Given the description of an element on the screen output the (x, y) to click on. 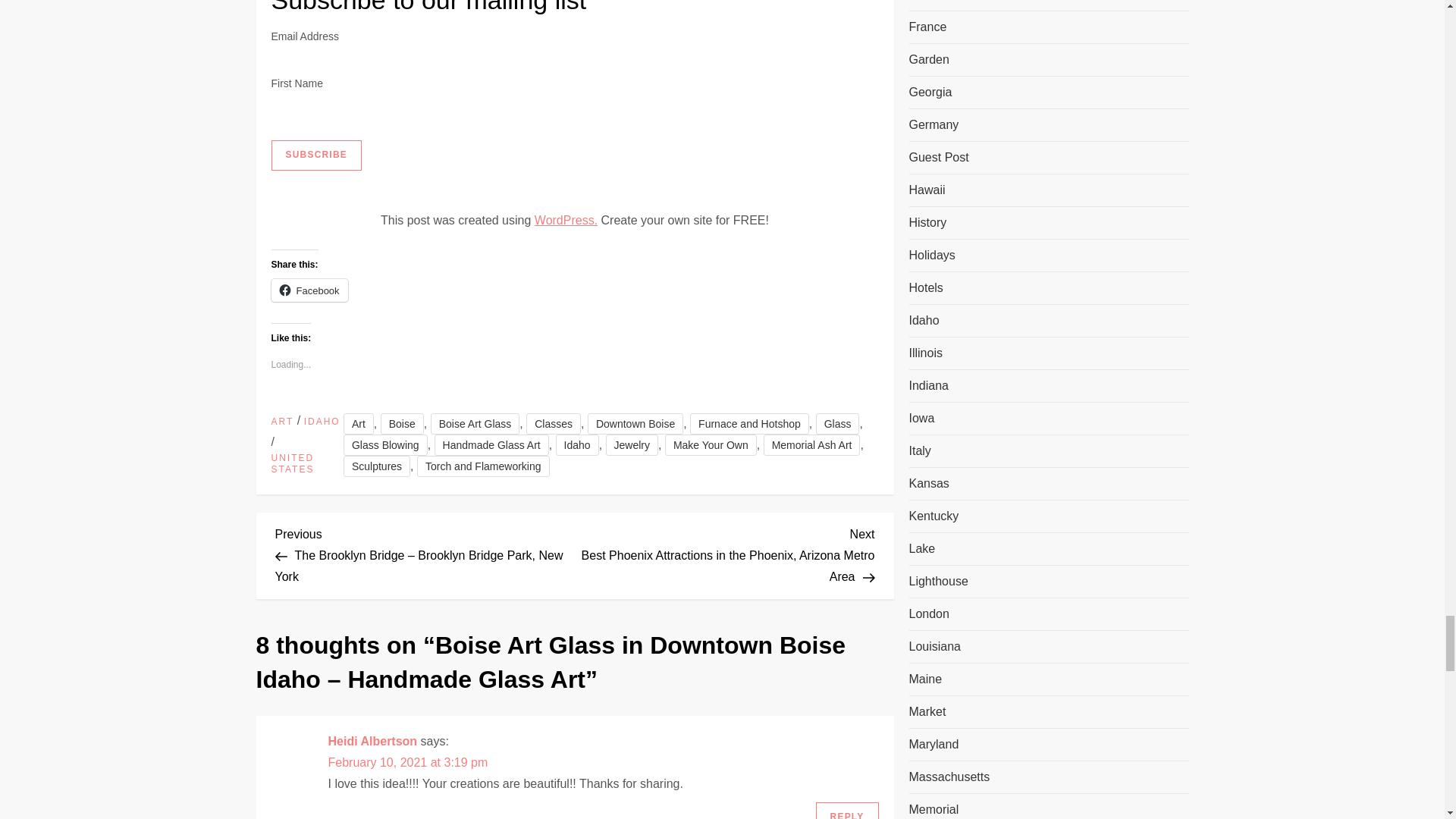
Classes (552, 423)
UNITED STATES (306, 463)
Facebook (308, 290)
Heidi Albertson (371, 740)
Sculptures (376, 465)
Art (358, 423)
WordPress. (565, 219)
Glass Blowing (385, 444)
Furnace and Hotshop (749, 423)
Handmade Glass Art (490, 444)
Boise Art Glass (474, 423)
Torch and Flameworking (483, 465)
Subscribe (315, 155)
Jewelry (631, 444)
